Given the description of an element on the screen output the (x, y) to click on. 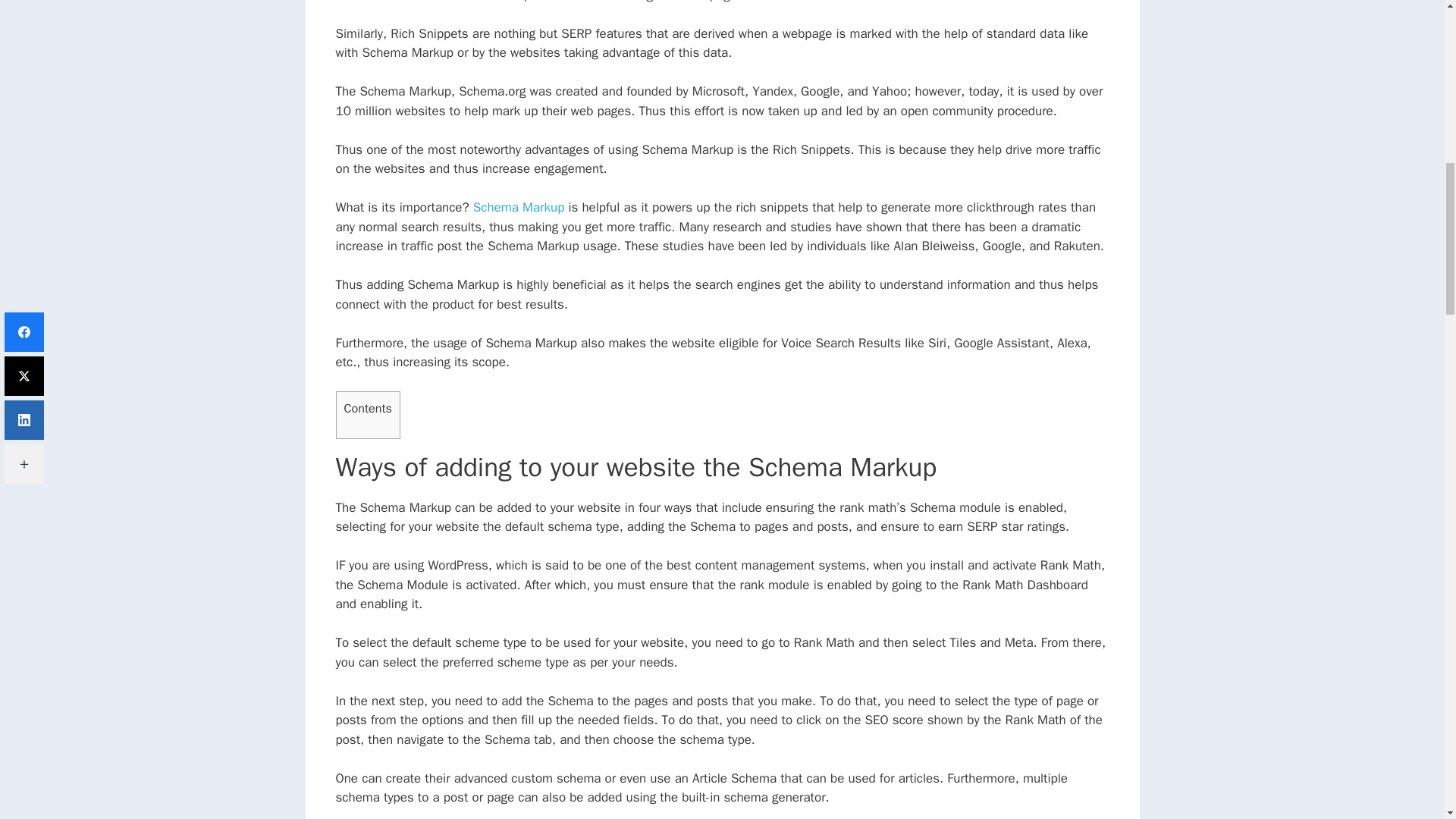
Scroll back to top (1406, 720)
Schema Markup (518, 207)
